Given the description of an element on the screen output the (x, y) to click on. 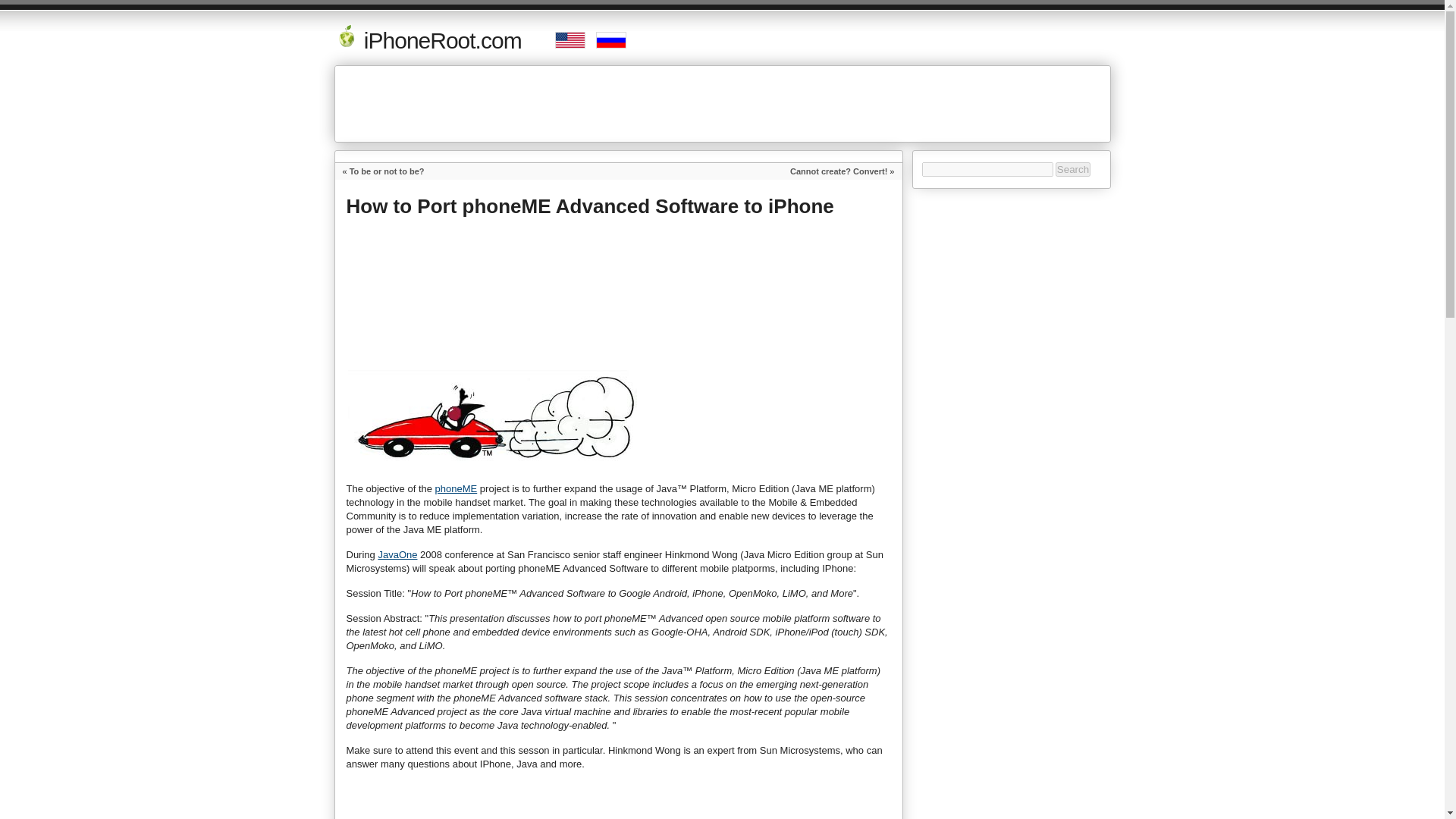
Advertisement (472, 806)
Advertisement (623, 311)
Search (1072, 169)
iPhoneRoot.com (427, 40)
phoneME (456, 488)
Advertisement (722, 103)
Cannot create? Convert! (838, 171)
phoneME (456, 488)
To be or not to be? (387, 171)
JavaOne (396, 554)
JavaOne (396, 554)
